Given the description of an element on the screen output the (x, y) to click on. 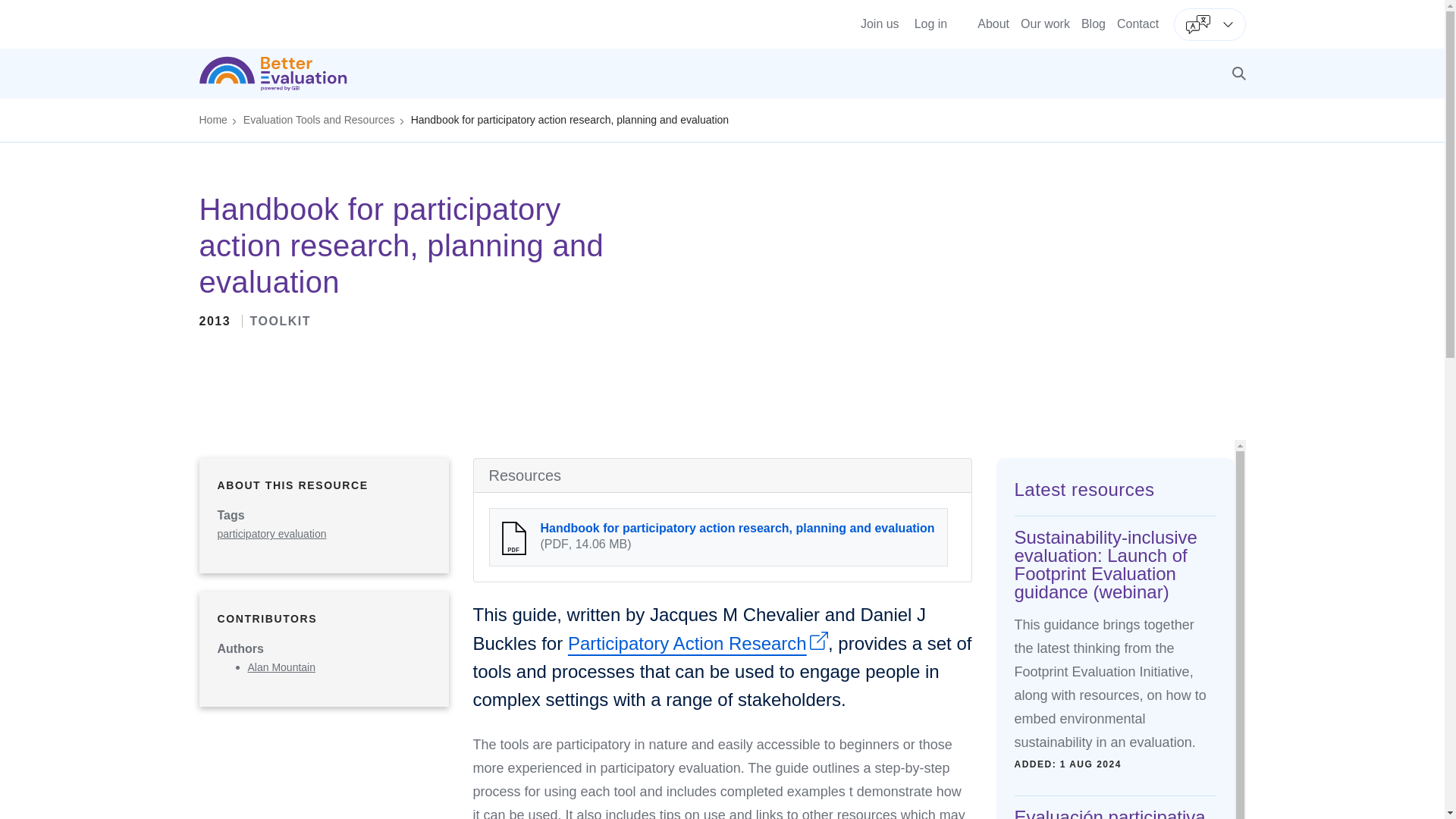
Contact (1137, 23)
About (992, 23)
Blog (1093, 23)
Log in (930, 24)
Join us (879, 24)
Our work (1045, 23)
Skip to main content (722, 5)
